Given the description of an element on the screen output the (x, y) to click on. 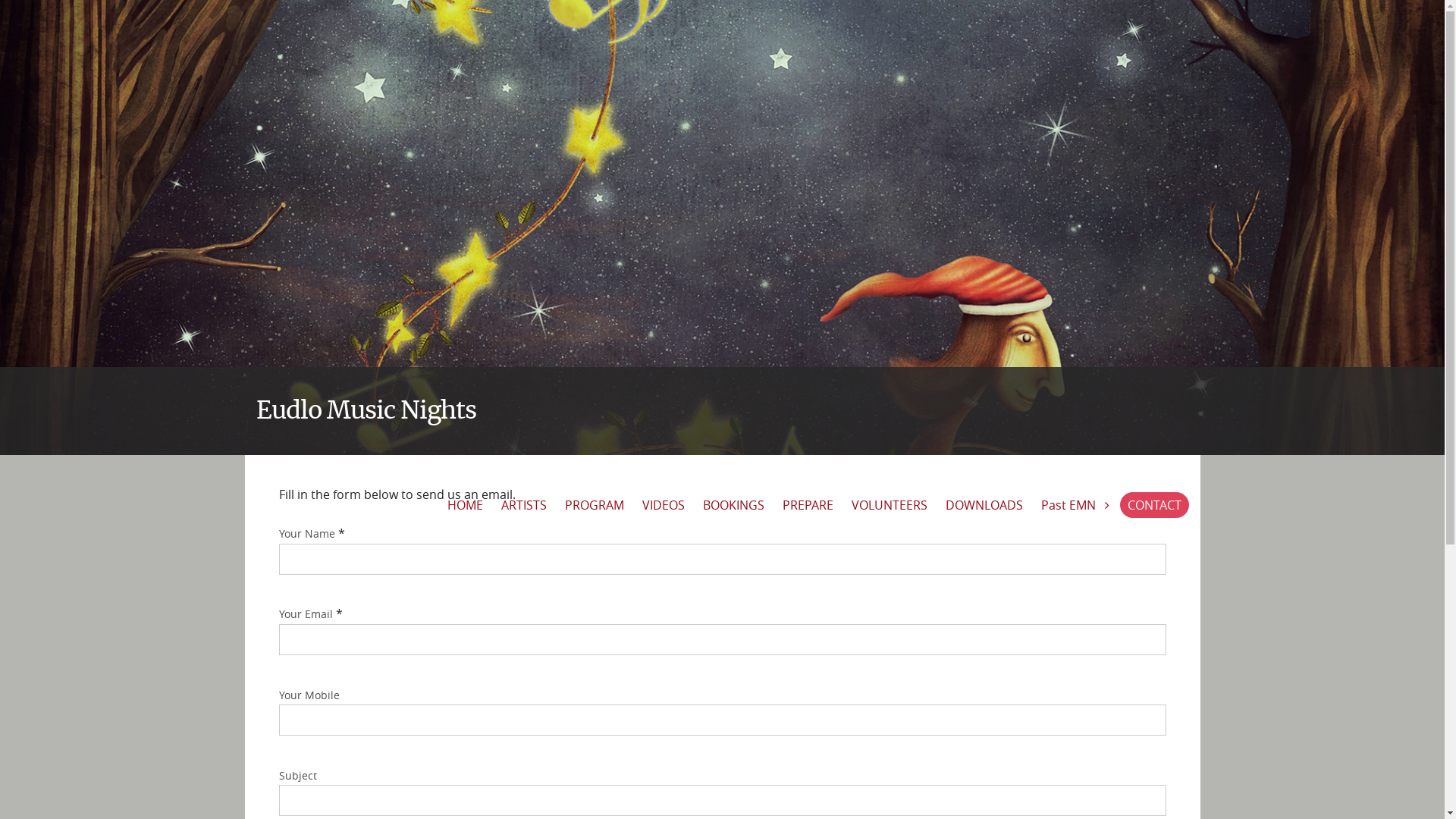
CONTACT Element type: text (1153, 504)
VIDEOS Element type: text (662, 504)
BOOKINGS Element type: text (732, 504)
HOME Element type: text (464, 504)
Past EMN Element type: text (1074, 504)
ARTISTS Element type: text (522, 504)
PREPARE Element type: text (807, 504)
PROGRAM Element type: text (593, 504)
VOLUNTEERS Element type: text (888, 504)
DOWNLOADS Element type: text (983, 504)
